Given the description of an element on the screen output the (x, y) to click on. 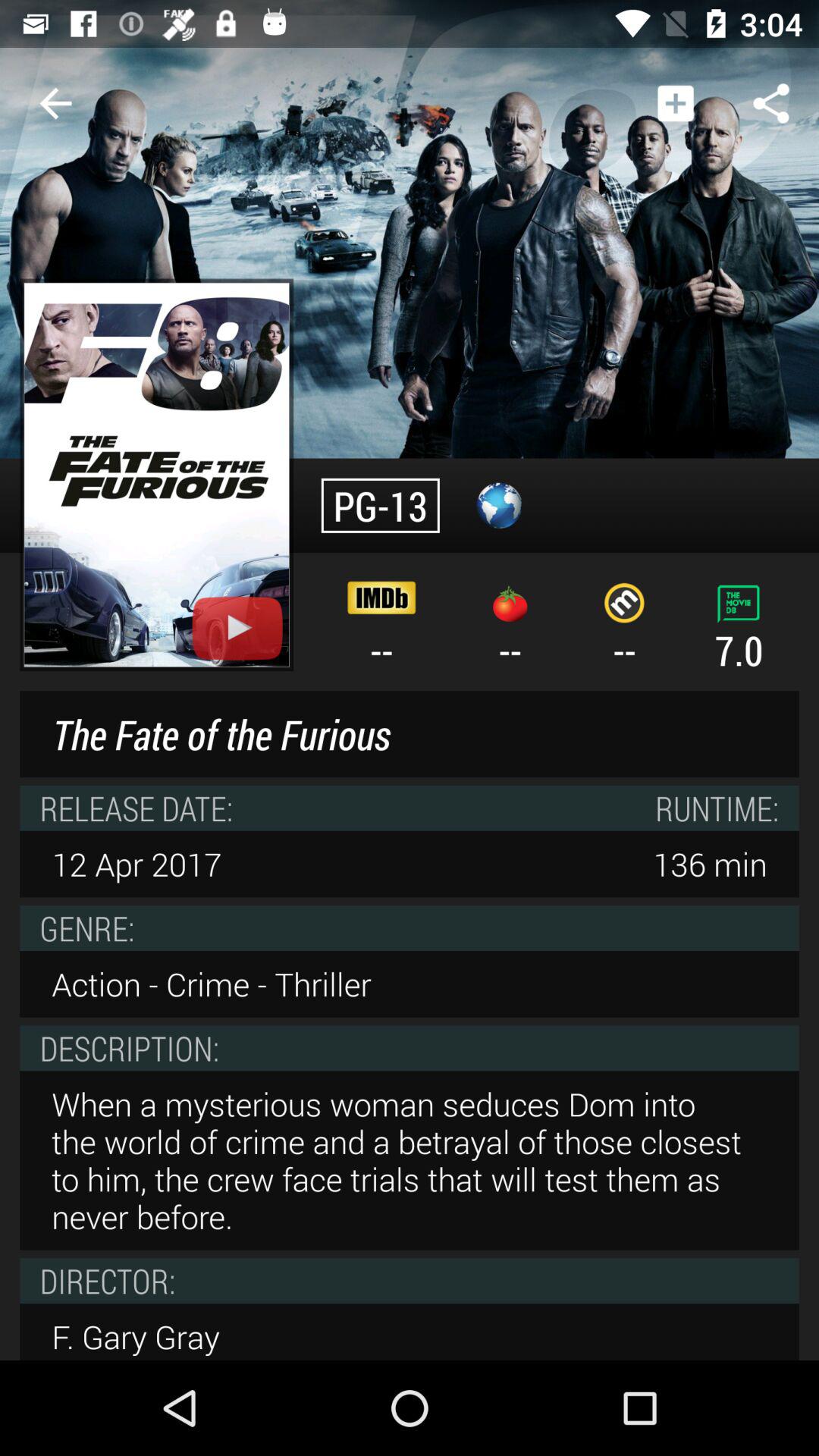
view on youtube (236, 628)
